Given the description of an element on the screen output the (x, y) to click on. 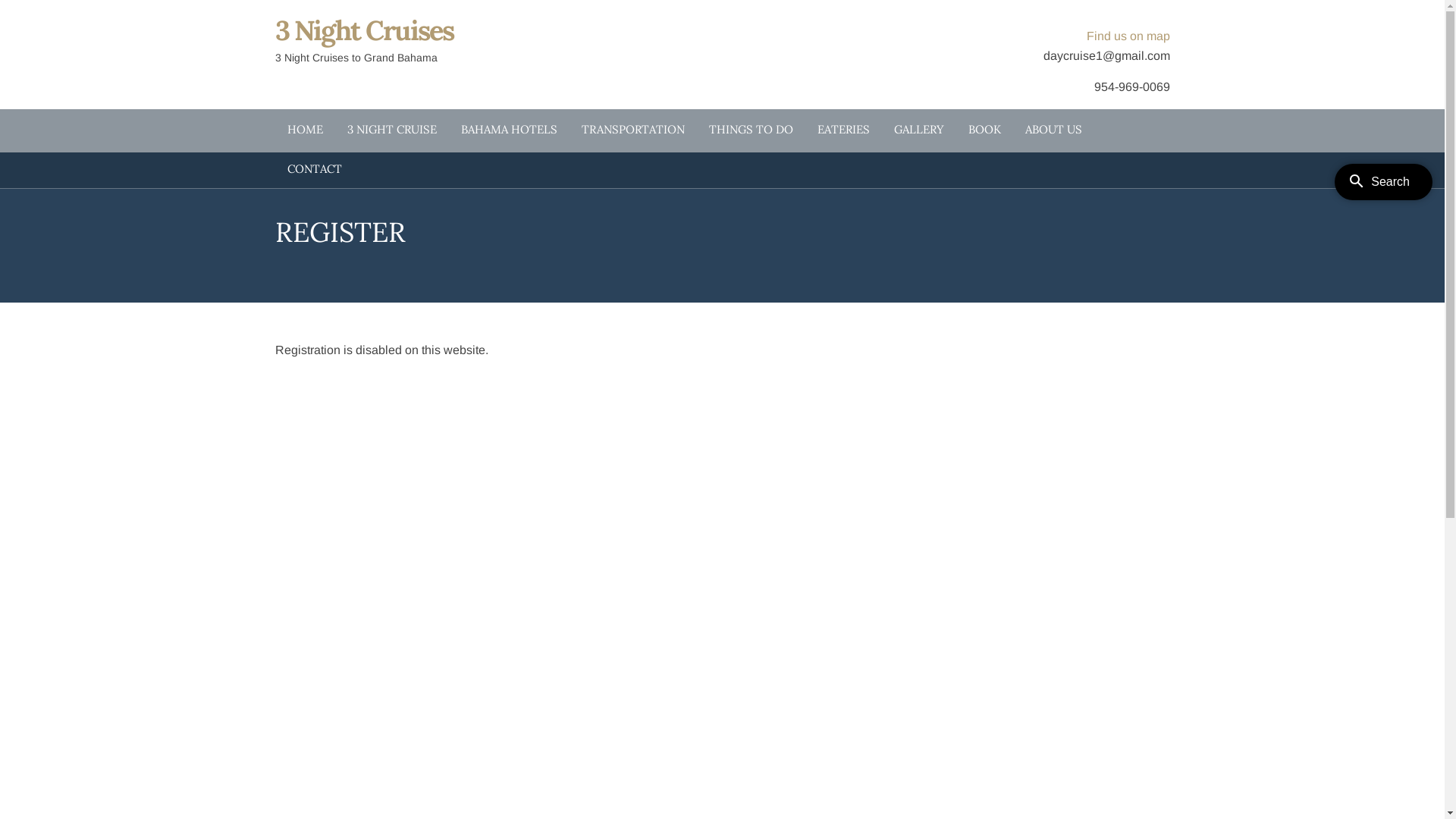
THINGS TO DO Element type: text (750, 128)
HOME Element type: text (304, 128)
GALLERY Element type: text (918, 128)
Advertisement Element type: hover (1034, 446)
3 NIGHT CRUISE Element type: text (391, 128)
CONTACT Element type: text (313, 168)
BAHAMA HOTELS Element type: text (508, 128)
TRANSPORTATION Element type: text (632, 128)
Advertisement Element type: hover (1034, 696)
Find us on map Element type: text (1127, 35)
EATERIES Element type: text (843, 128)
3 Night Cruises Element type: text (363, 29)
ABOUT US Element type: text (1053, 128)
BOOK Element type: text (983, 128)
